Given the description of an element on the screen output the (x, y) to click on. 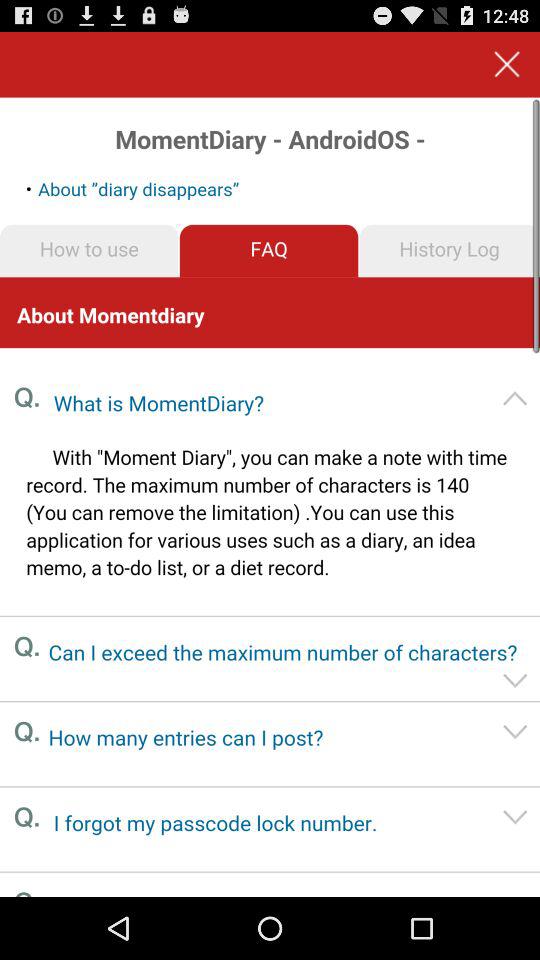
close (506, 64)
